Given the description of an element on the screen output the (x, y) to click on. 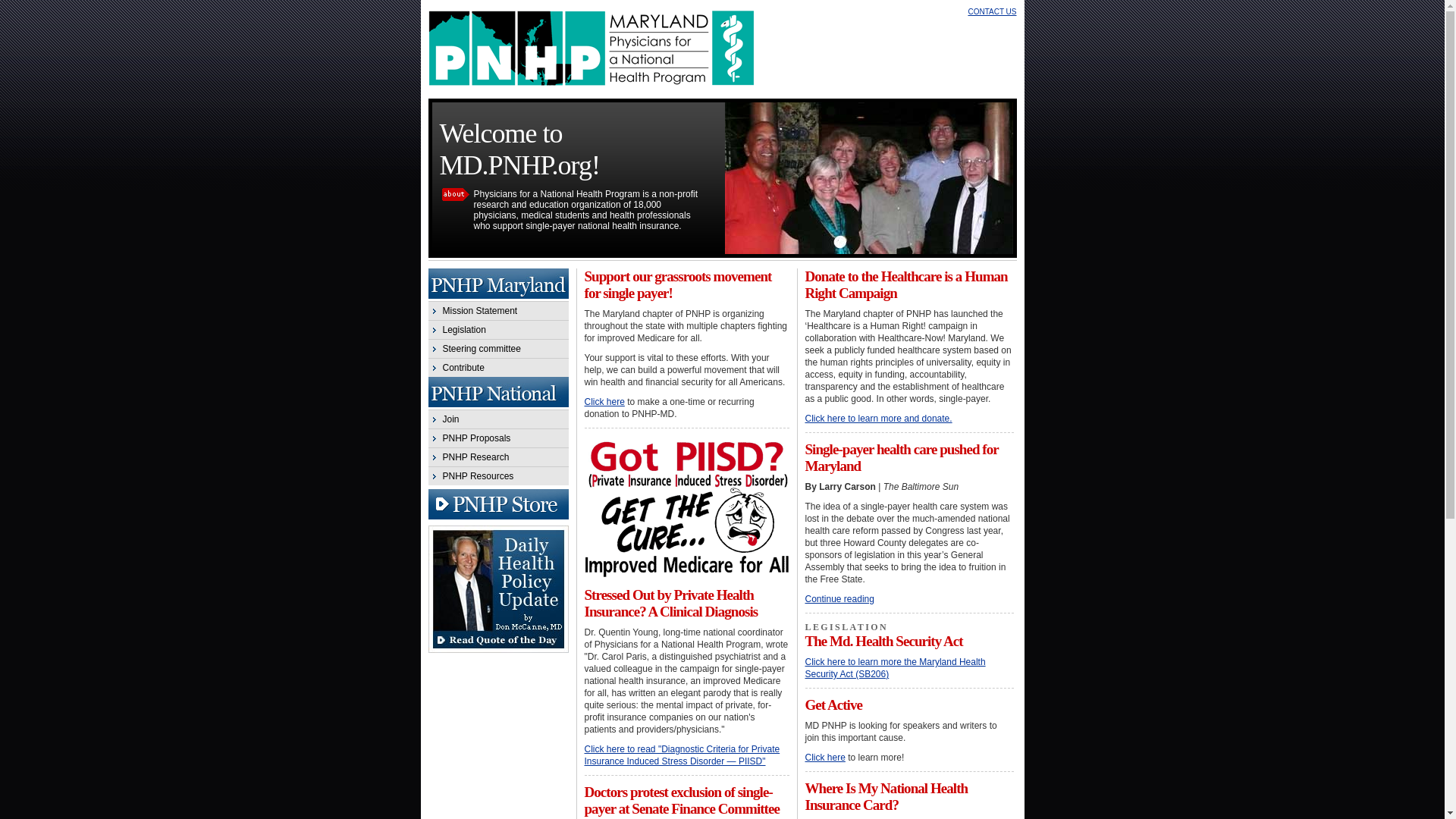
Contribute (497, 366)
PNHP Proposals (497, 437)
Donate to the Healthcare is a Human Right Campaign (906, 284)
Legislation (497, 329)
PNHP Research (497, 456)
Mission Statement (497, 310)
Support our grassroots movement for single payer! (677, 284)
Click here (825, 757)
Join (497, 418)
Get Active (833, 704)
